Given the description of an element on the screen output the (x, y) to click on. 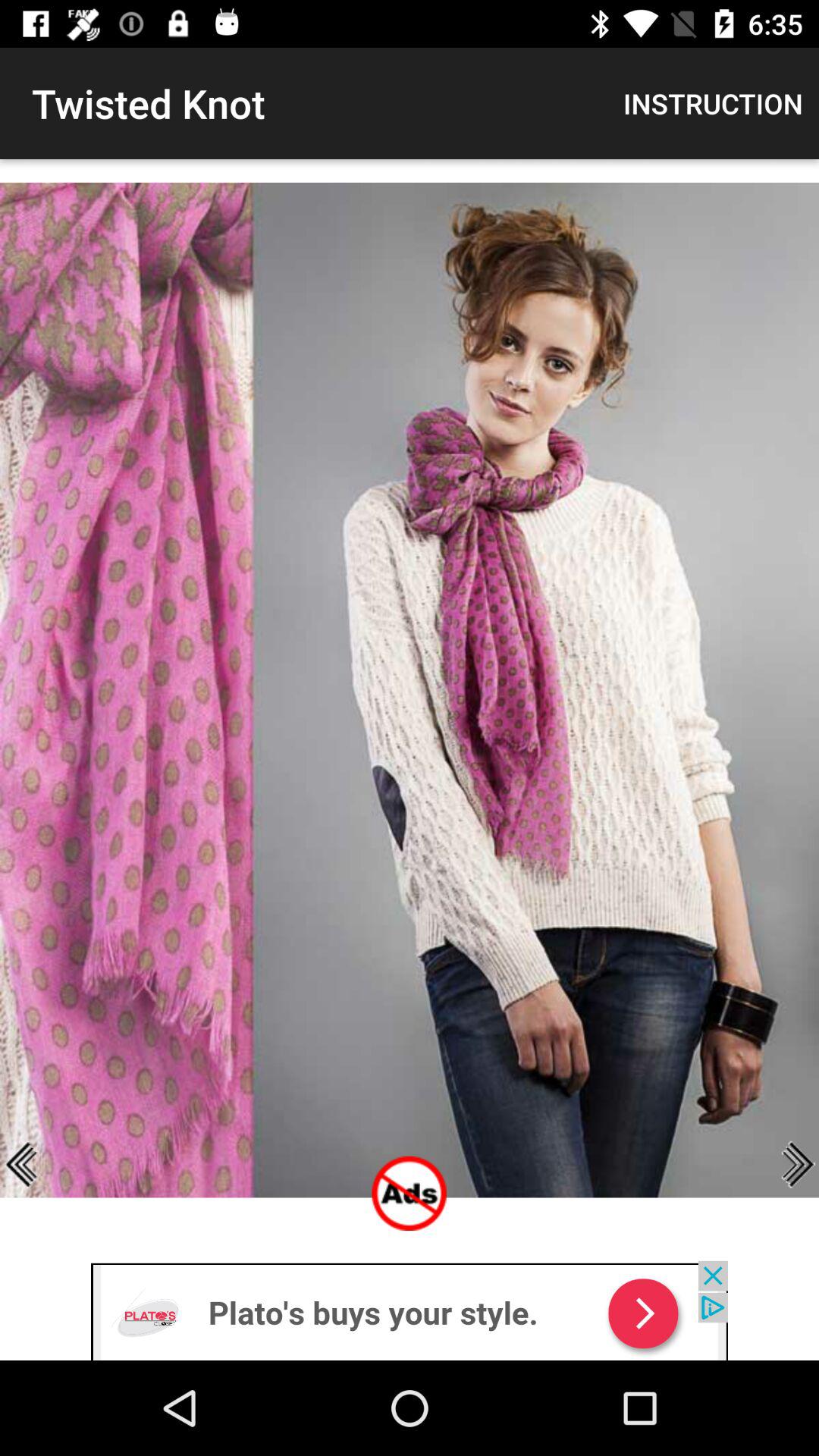
jump to the instruction item (713, 103)
